Given the description of an element on the screen output the (x, y) to click on. 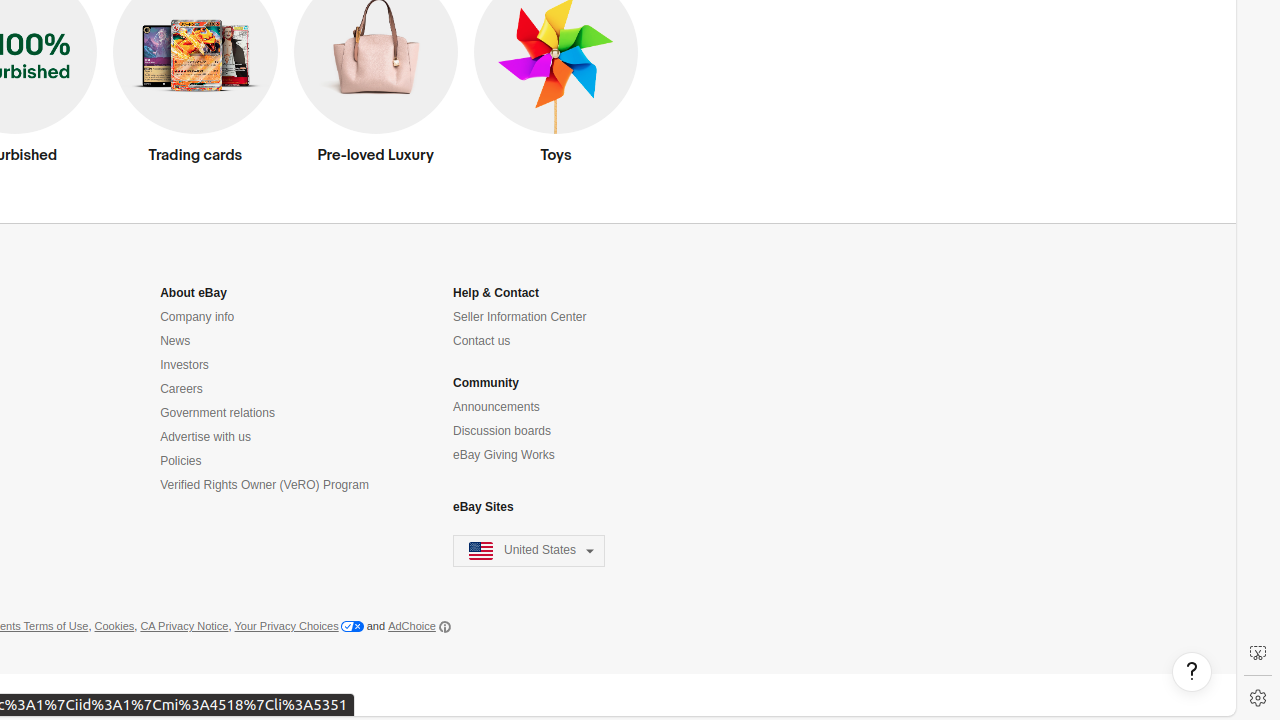
Careers Element type: link (181, 389)
eBay Giving Works Element type: link (504, 455)
Discussion boards Element type: link (502, 431)
Company info Element type: link (197, 317)
Government relations Element type: link (217, 413)
